Given the description of an element on the screen output the (x, y) to click on. 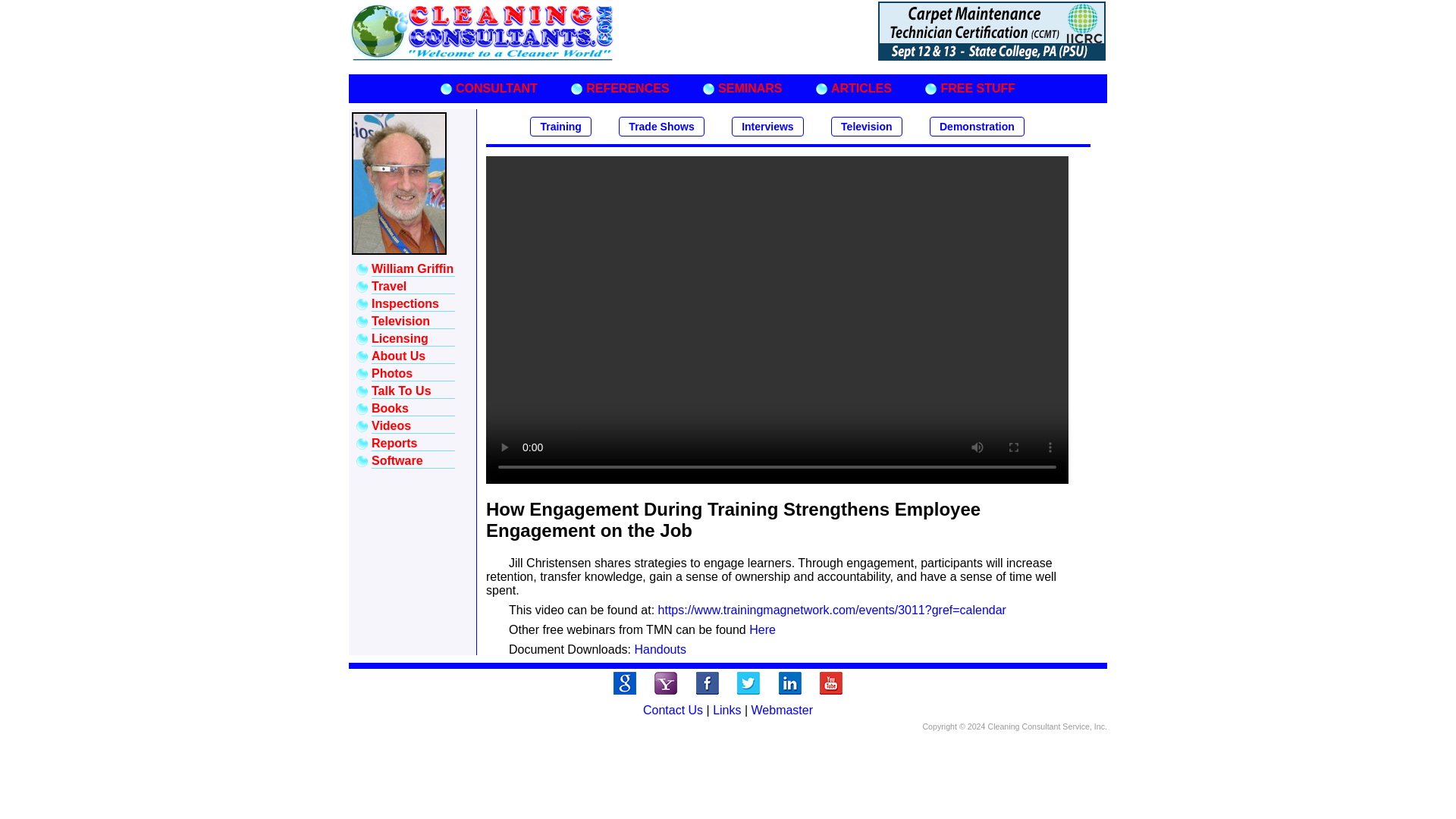
Demonstration (977, 125)
SEMINARS (749, 88)
Talk To Us (400, 390)
Interviews (767, 126)
Inspections (405, 303)
Travel (388, 286)
Links (727, 709)
Trade Shows (660, 126)
Here (762, 629)
Interviews (767, 125)
